Given the description of an element on the screen output the (x, y) to click on. 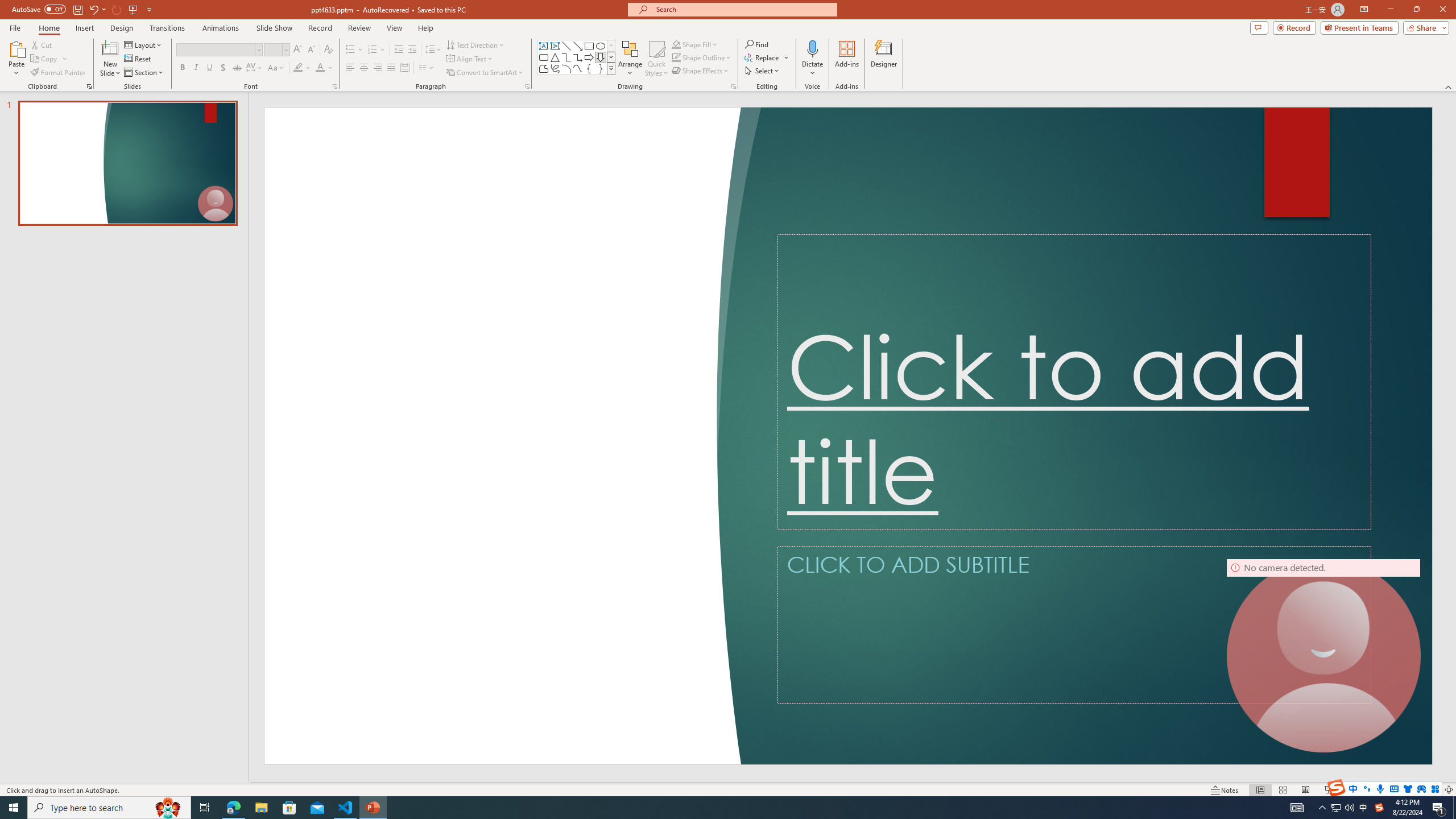
Shape Outline Dark Red, Accent 1 (675, 56)
